Given the description of an element on the screen output the (x, y) to click on. 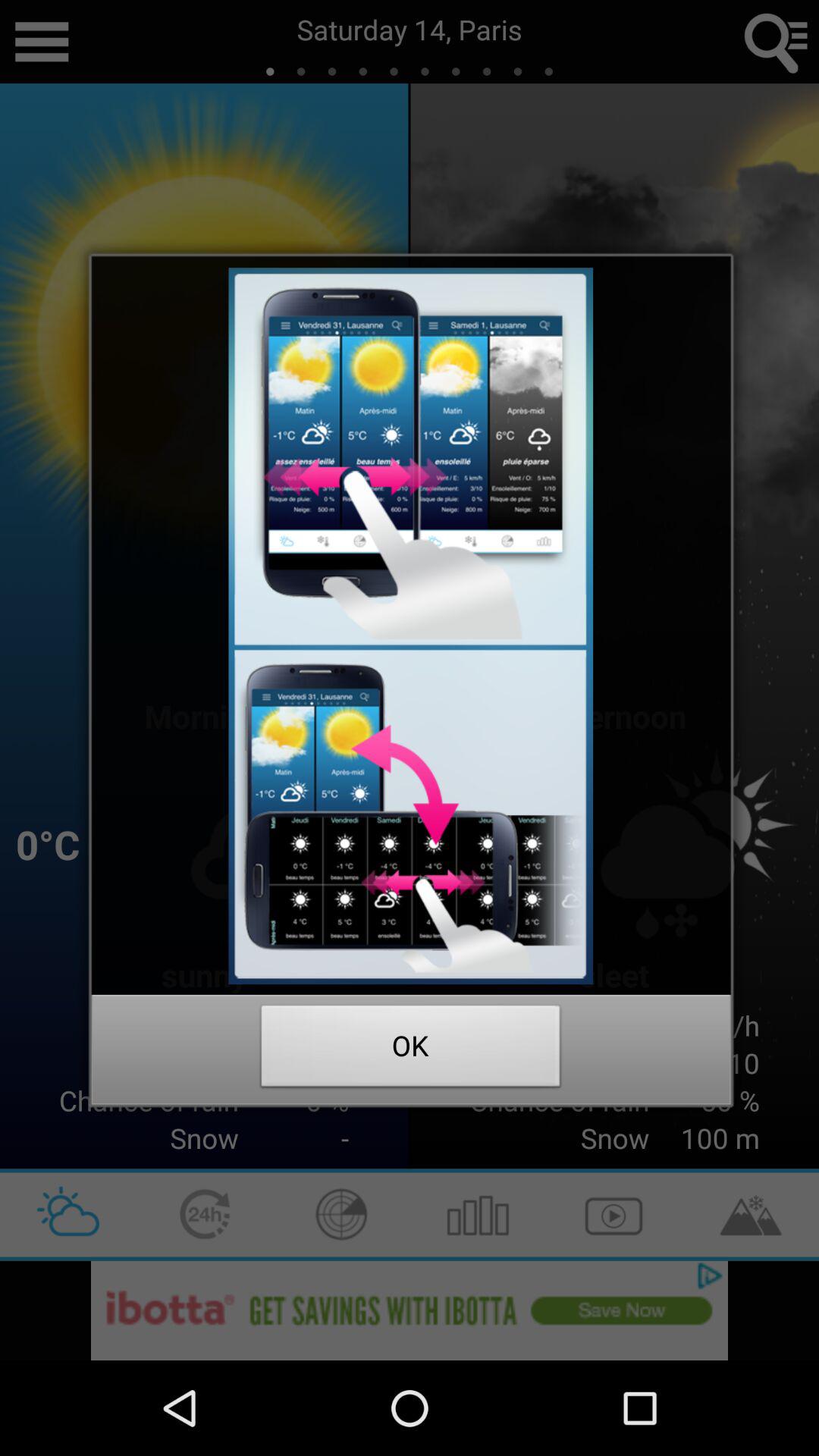
jump to ok (410, 1050)
